Given the description of an element on the screen output the (x, y) to click on. 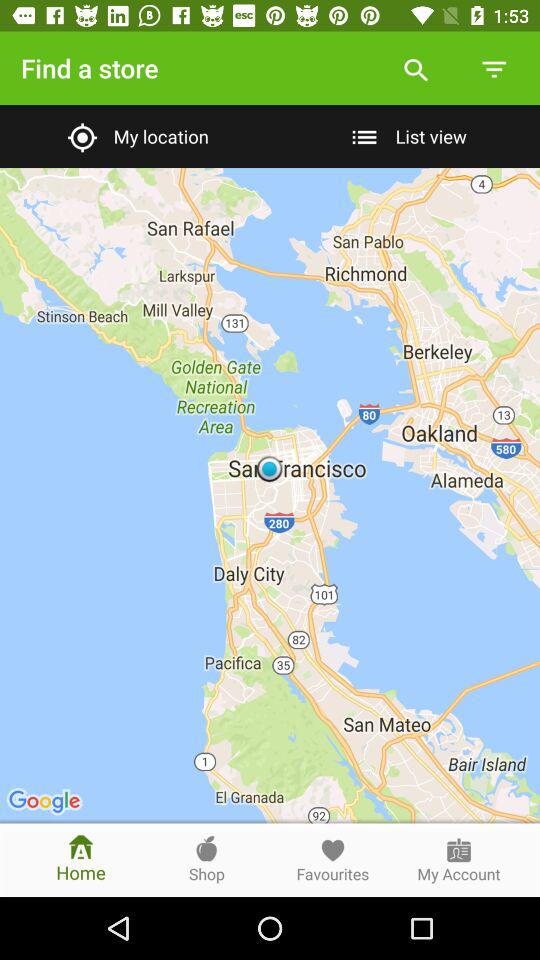
tap item next to the find a store item (415, 67)
